Given the description of an element on the screen output the (x, y) to click on. 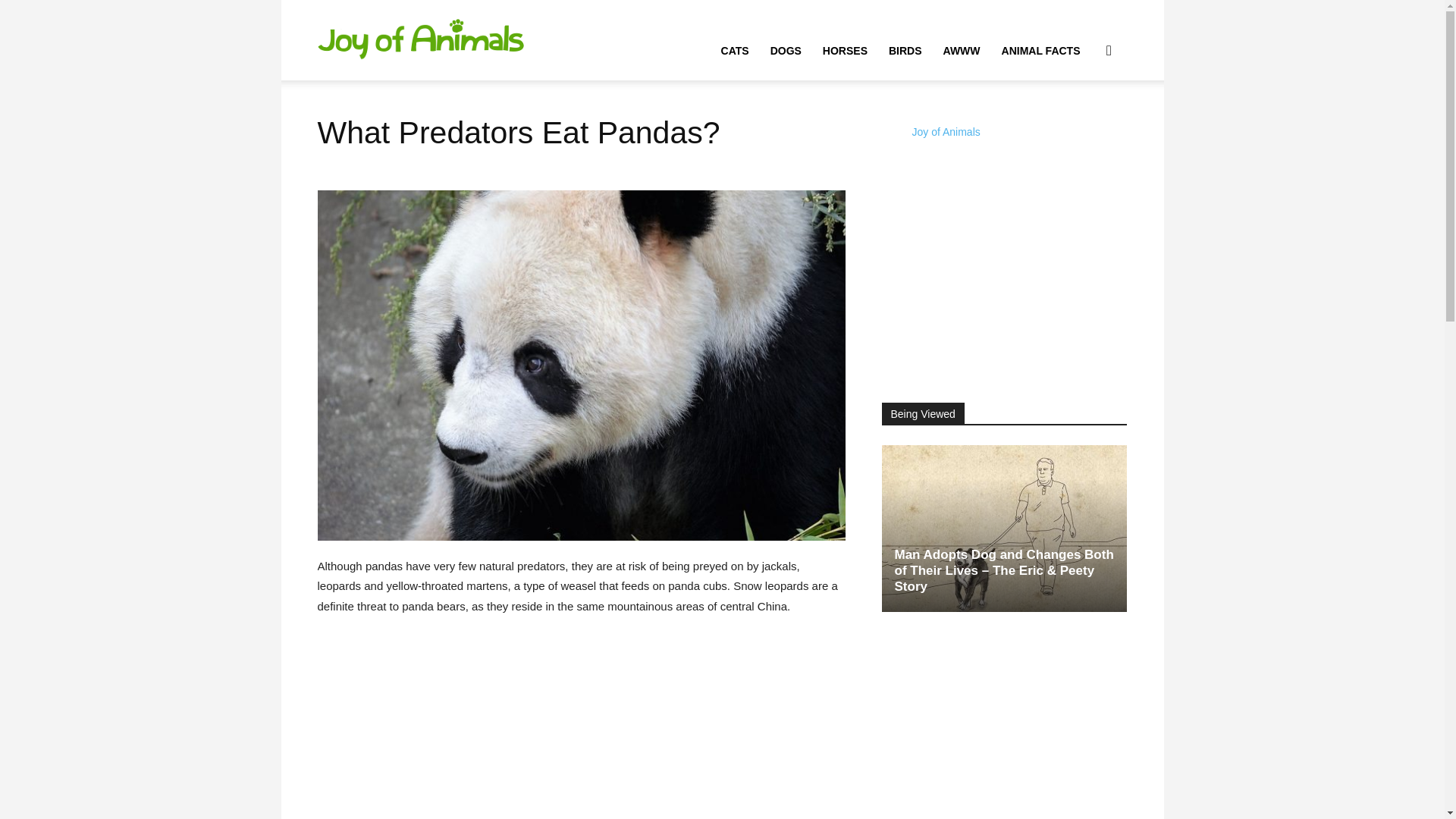
BIRDS (905, 50)
Joy of Animals (945, 132)
Joy of Animals (419, 39)
HORSES (844, 50)
ANIMAL FACTS (1040, 50)
Advertisement (1003, 274)
AWWW (962, 50)
Search (1085, 122)
